Given the description of an element on the screen output the (x, y) to click on. 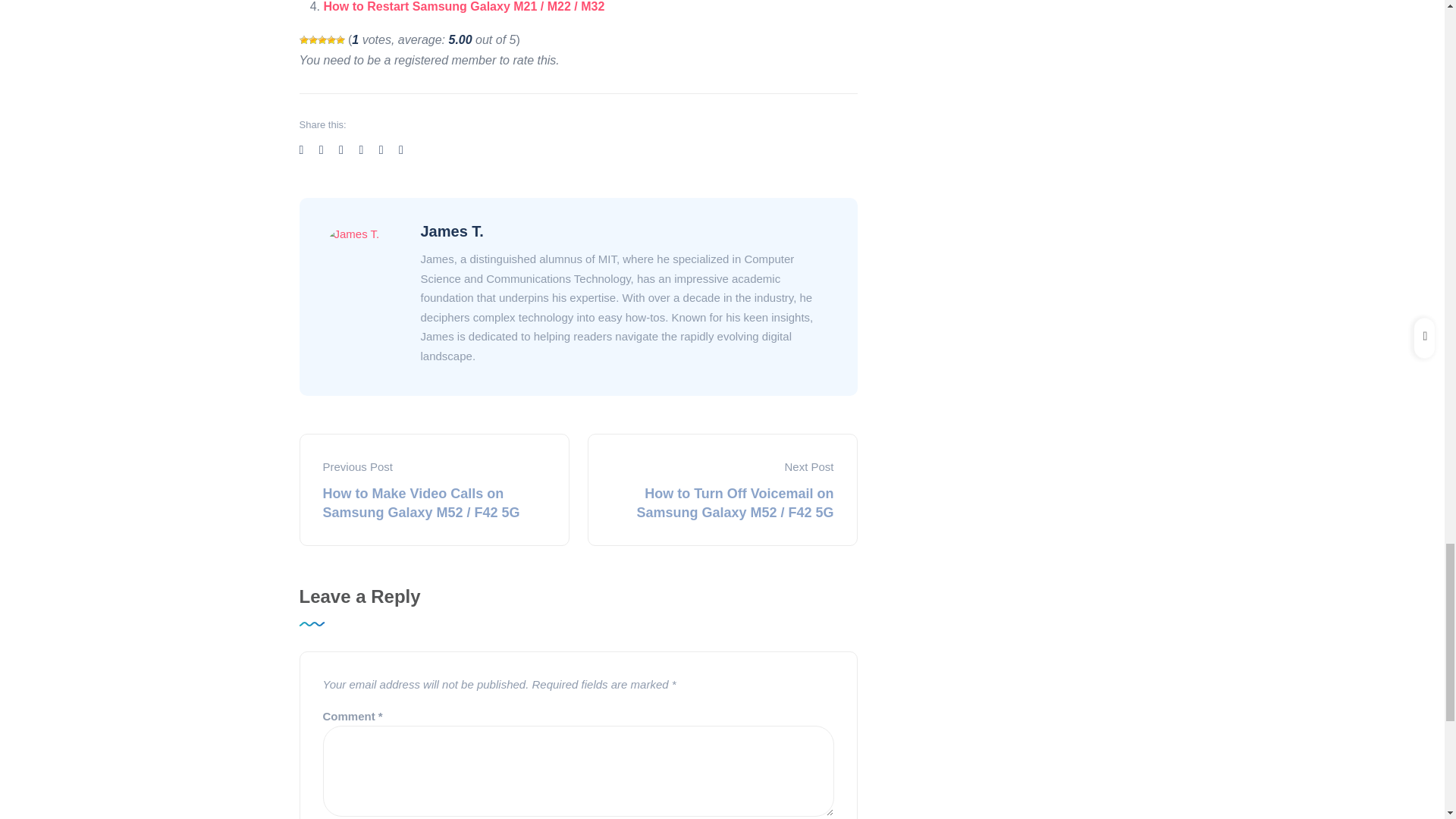
1 vote, average: 5.00 out of 5 (302, 40)
